Given the description of an element on the screen output the (x, y) to click on. 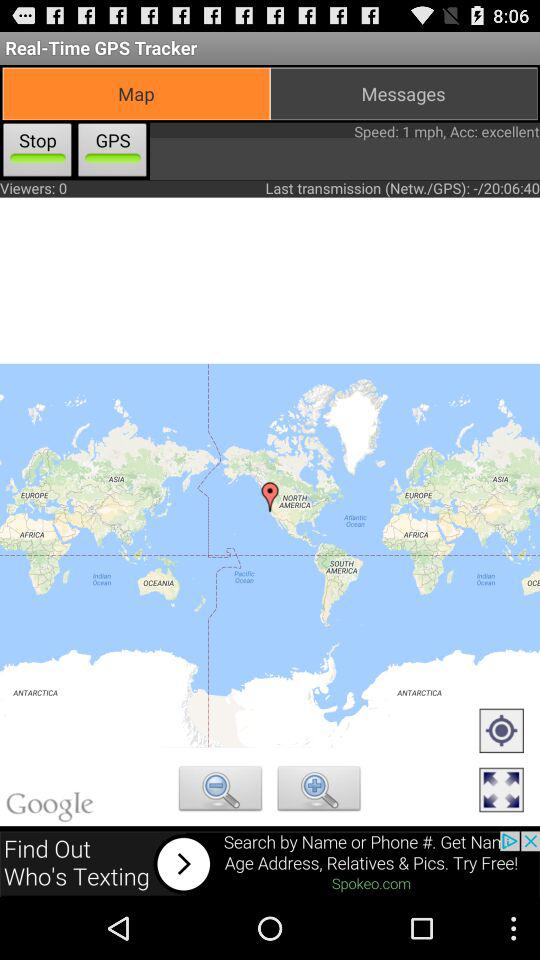
go (501, 731)
